Given the description of an element on the screen output the (x, y) to click on. 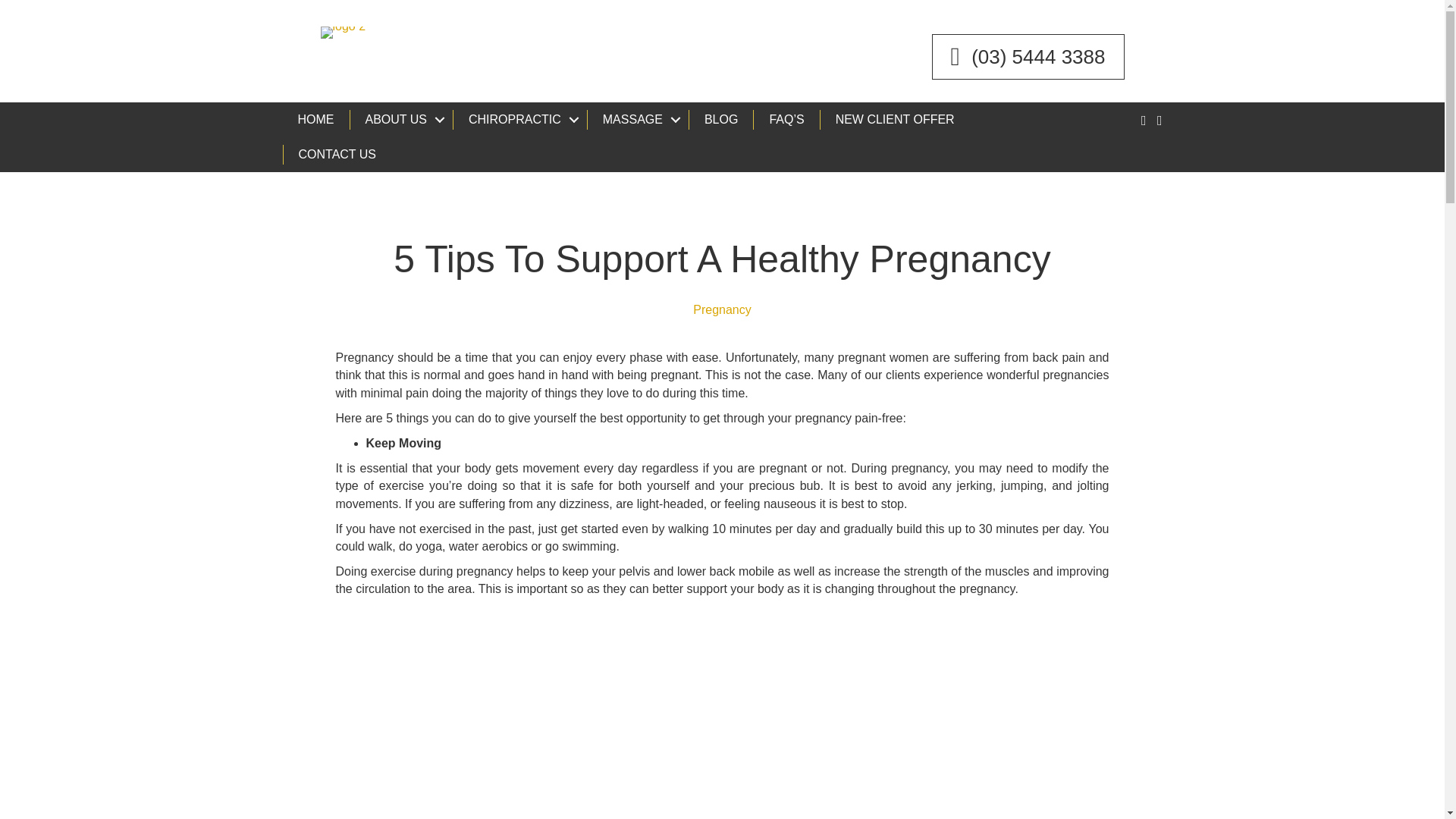
MASSAGE (637, 119)
Pregnancy (722, 309)
BLOG (720, 119)
logo 2 (342, 31)
ABOUT US (400, 119)
NEW CLIENT OFFER (894, 119)
HOME (315, 119)
CONTACT US (336, 154)
CHIROPRACTIC (519, 119)
